Given the description of an element on the screen output the (x, y) to click on. 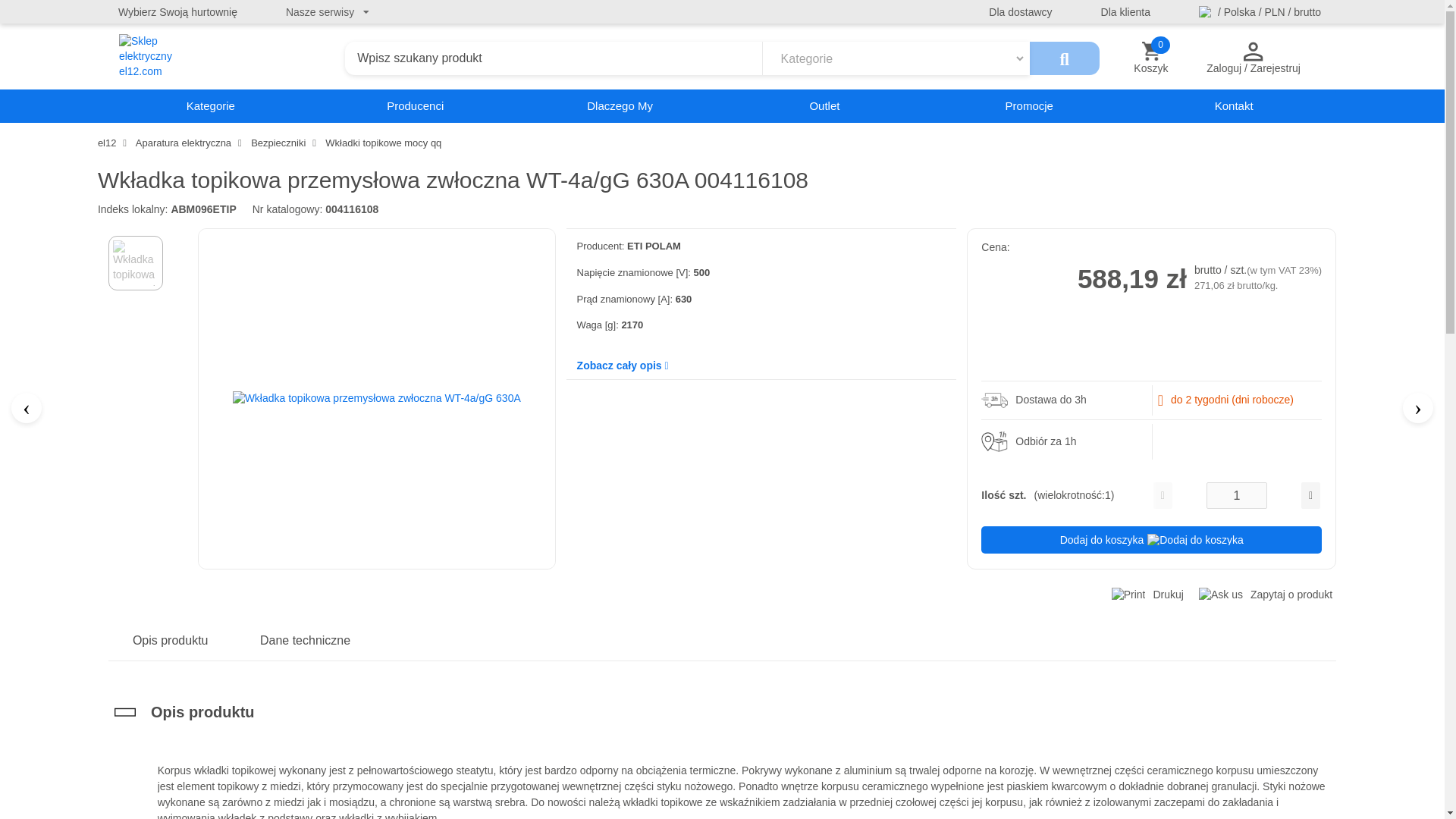
Bezpieczniki (279, 142)
Dla klienta (1126, 12)
Dlaczego My (620, 105)
el12.com - Sklep internetowy el12 (226, 58)
Sklep elektryczny el12.com (161, 58)
Outlet (824, 105)
Kategorie (210, 105)
User icon (1253, 51)
Ask us (1220, 595)
Dane techniczne (304, 640)
Dodaj do koszyka (1151, 539)
ETI POLAM (654, 245)
Producenci (415, 105)
Cart icon (1150, 51)
